Given the description of an element on the screen output the (x, y) to click on. 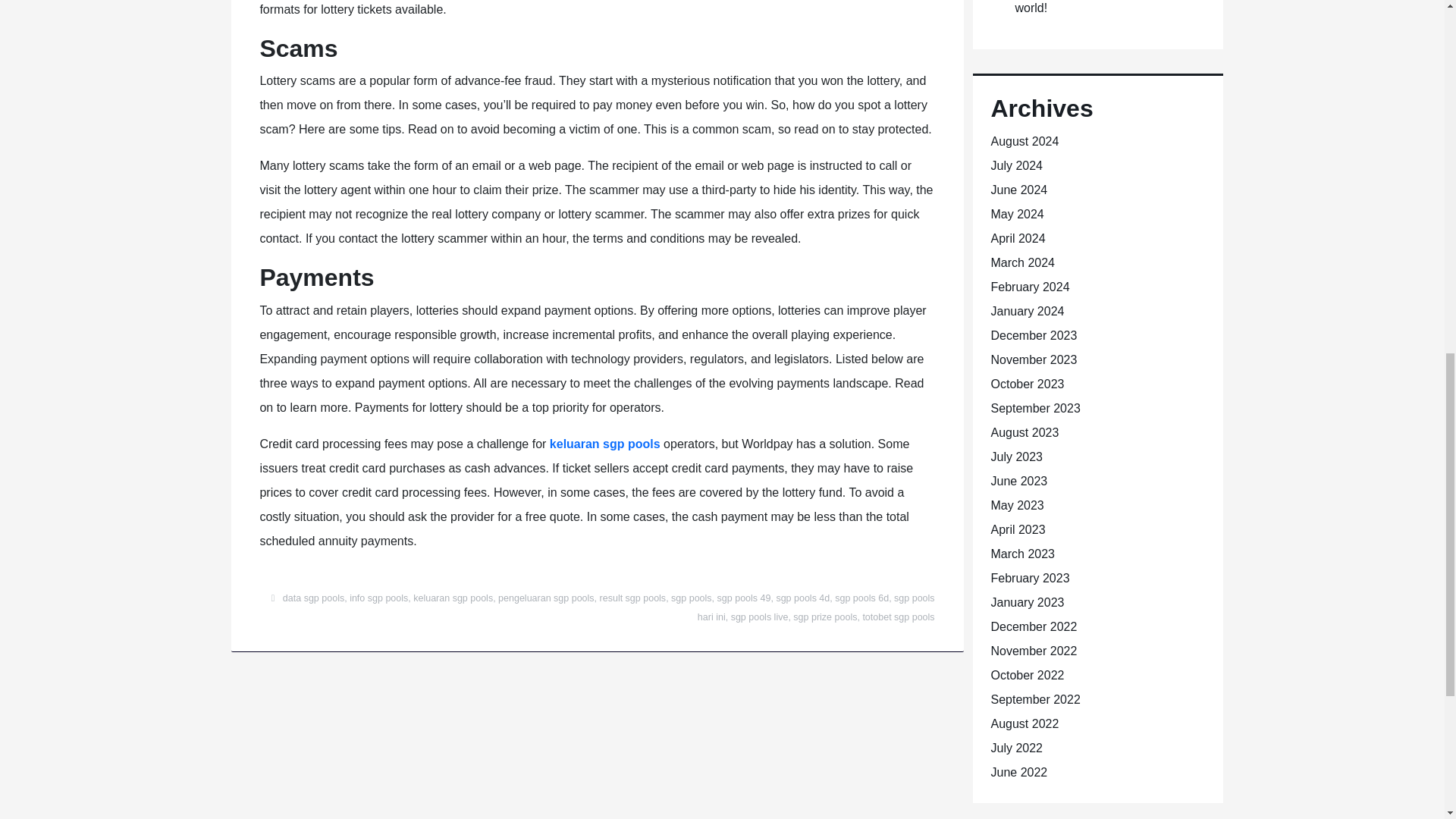
February 2024 (1029, 286)
totobet sgp pools (897, 616)
info sgp pools (378, 597)
sgp prize pools (825, 616)
October 2023 (1027, 383)
pengeluaran sgp pools (545, 597)
keluaran sgp pools (605, 443)
data sgp pools (312, 597)
August 2024 (1024, 141)
sgp pools 4d (802, 597)
